Given the description of an element on the screen output the (x, y) to click on. 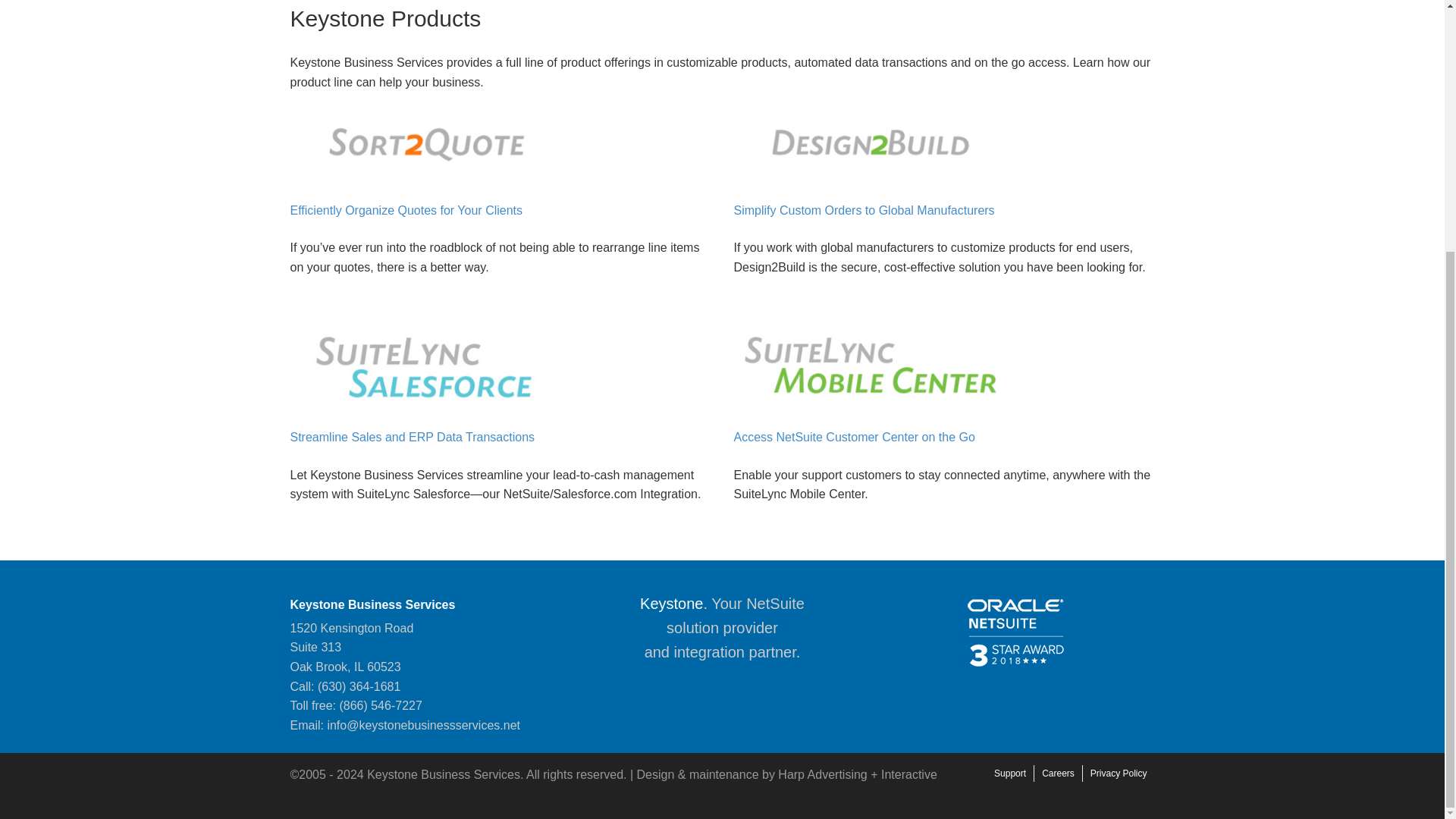
SuiteLync Salesforce (411, 436)
Design2Build (863, 210)
SuiteLync Mobile Center (854, 436)
Design2Build (405, 210)
